Given the description of an element on the screen output the (x, y) to click on. 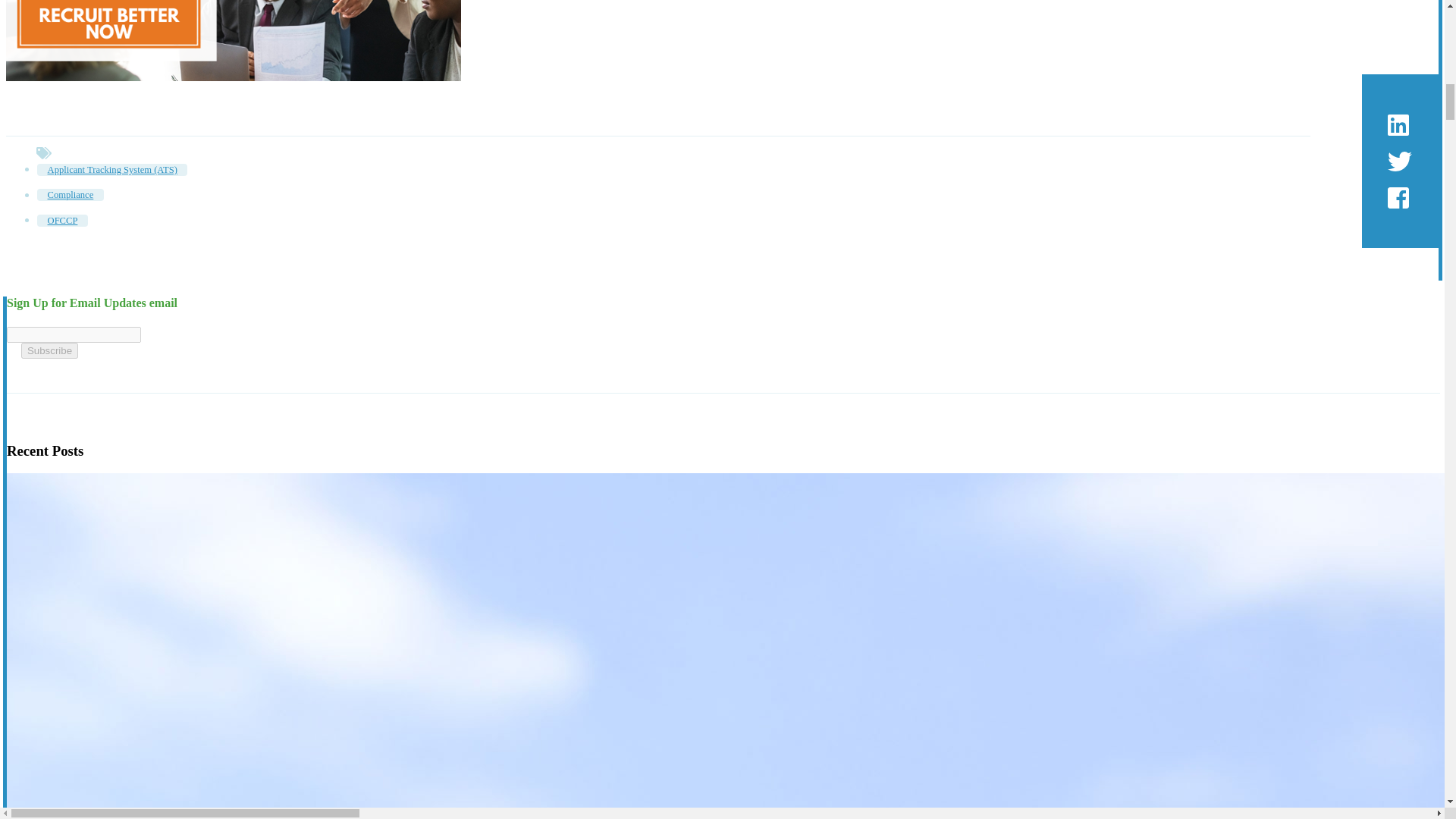
Subscribe (49, 350)
